Given the description of an element on the screen output the (x, y) to click on. 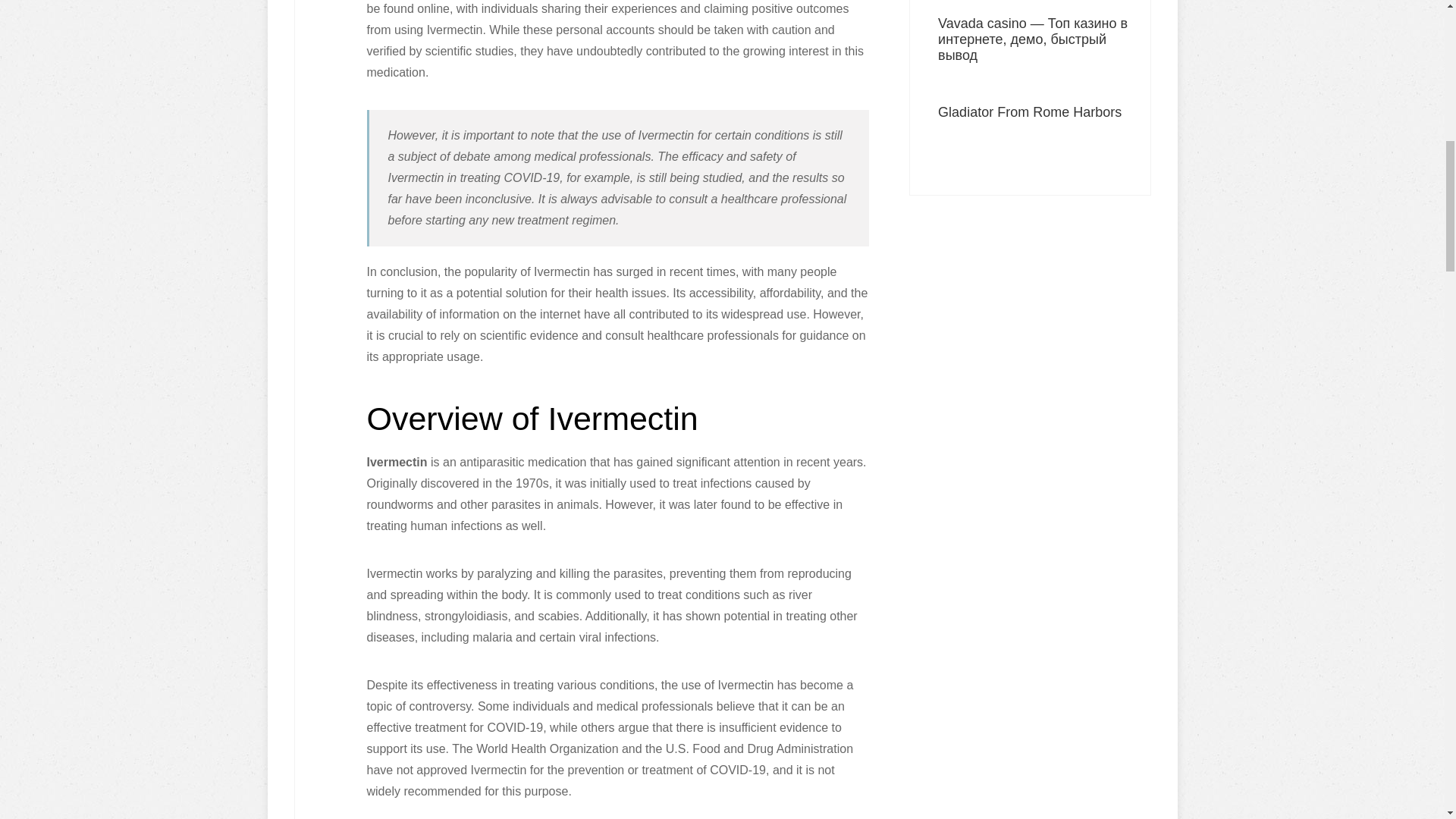
Gladiator From Rome Harbors (1034, 112)
